Given the description of an element on the screen output the (x, y) to click on. 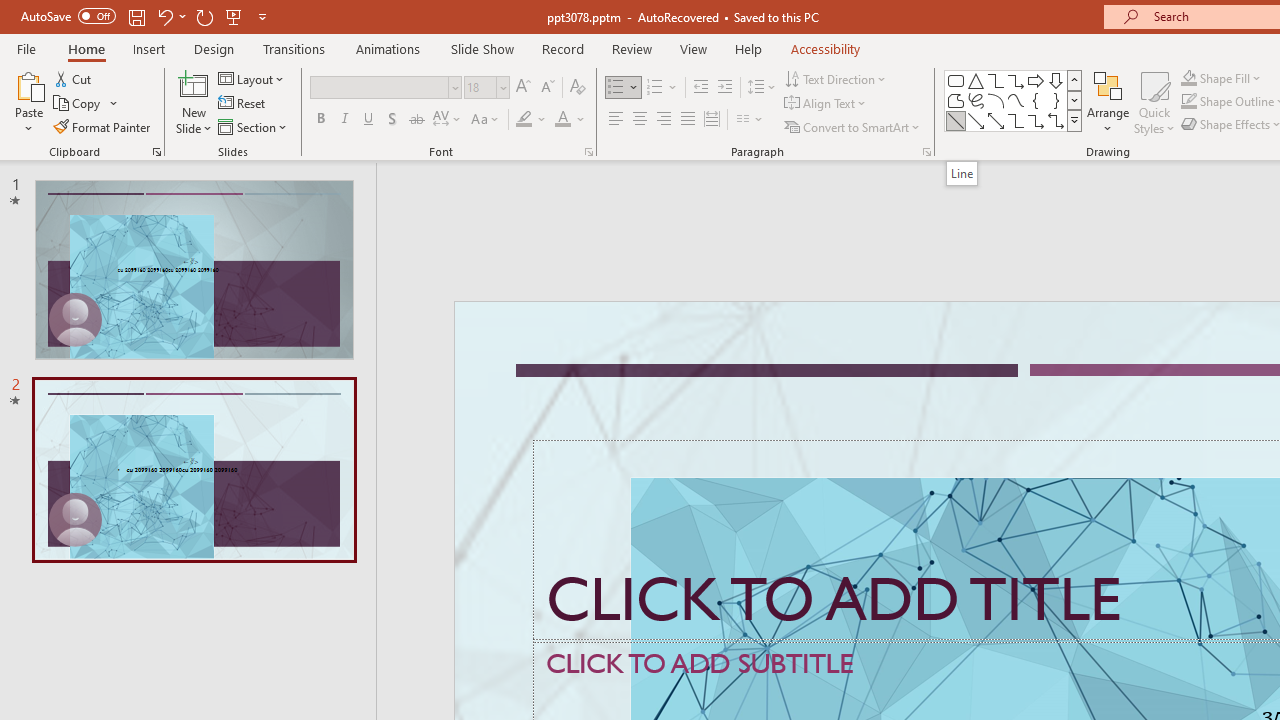
System (10, 11)
Character Spacing (447, 119)
Change Case (486, 119)
Cut (73, 78)
Text Highlight Color (531, 119)
Bullets (623, 87)
Customize Quick Access Toolbar (262, 15)
Font (379, 87)
Slide (194, 469)
Save (136, 15)
Copy (78, 103)
Decrease Font Size (547, 87)
Bullets (616, 87)
Shapes (1074, 120)
Convert to SmartArt (853, 126)
